Given the description of an element on the screen output the (x, y) to click on. 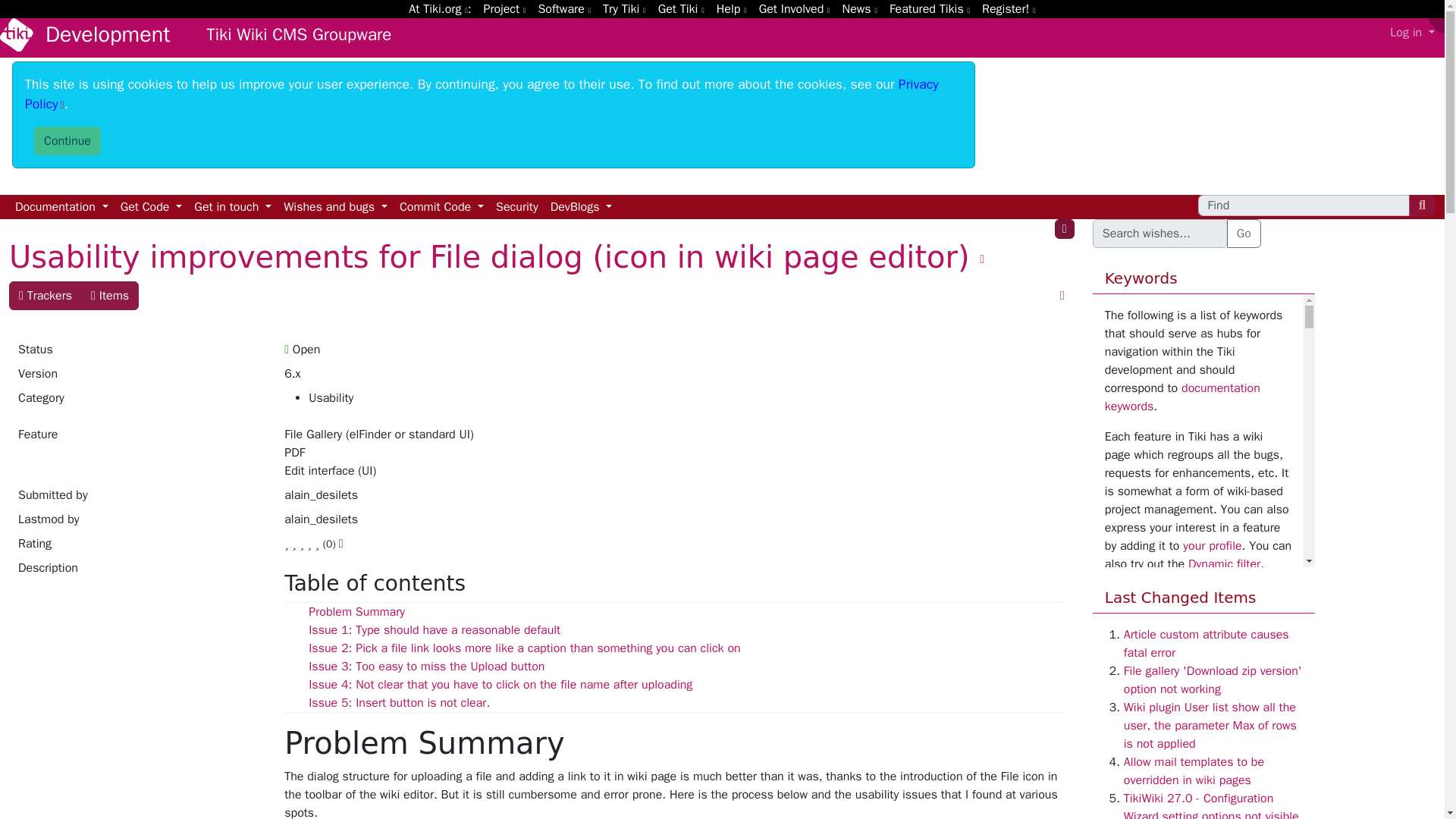
Commit Code (441, 206)
Status (141, 352)
Toggle right modules (1064, 229)
Continue (66, 140)
Go (1243, 233)
Wishes and bugs (335, 206)
Version (141, 376)
Category (141, 407)
Get Code (152, 206)
Lastmod by (141, 522)
Continue (66, 140)
DevBlogs (581, 206)
Security (516, 206)
Privacy Policy (481, 94)
Rating (141, 546)
